Given the description of an element on the screen output the (x, y) to click on. 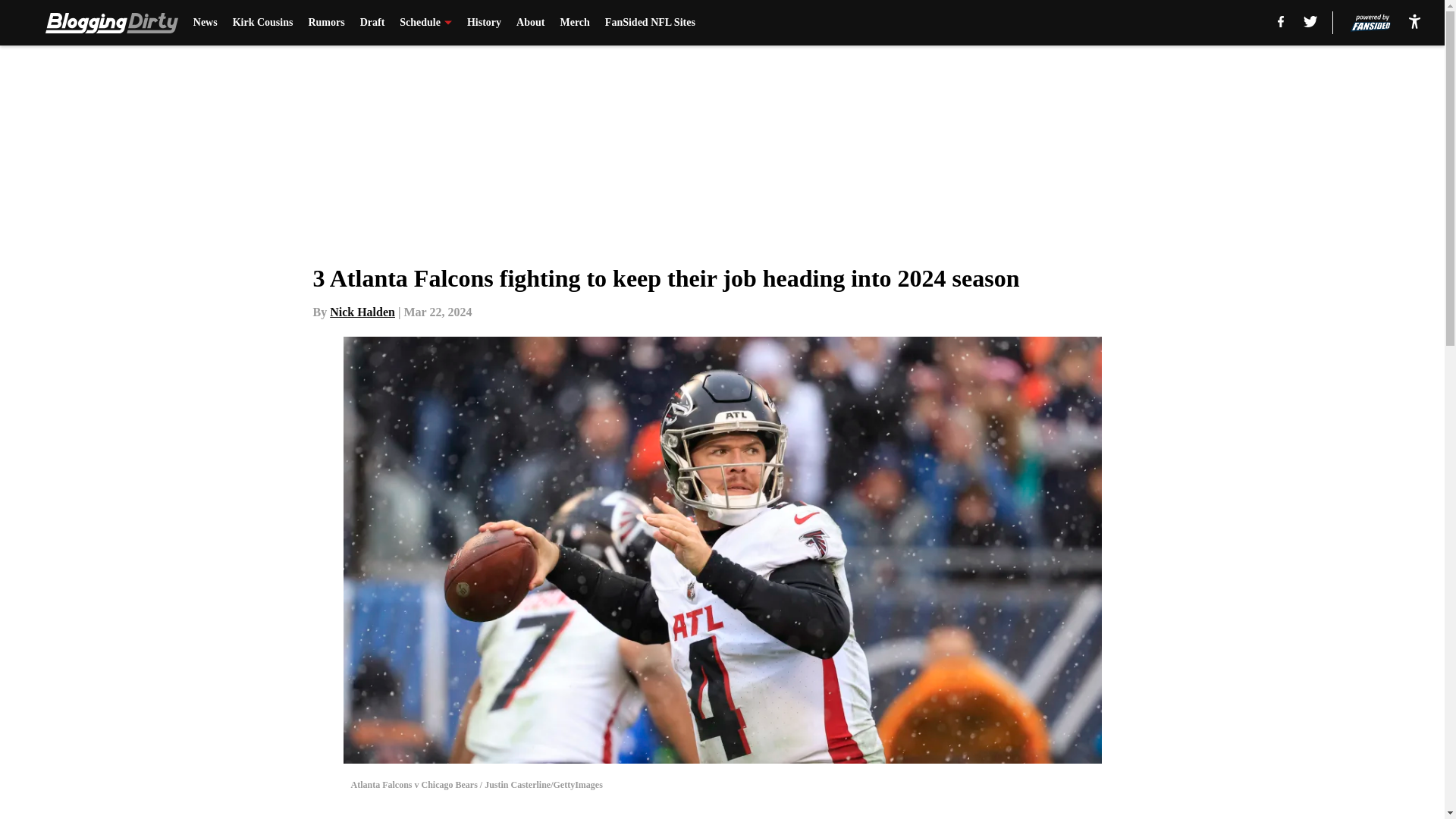
Kirk Cousins (263, 22)
FanSided NFL Sites (650, 22)
History (483, 22)
News (204, 22)
About (530, 22)
Rumors (325, 22)
Draft (372, 22)
Nick Halden (362, 311)
Merch (574, 22)
